Given the description of an element on the screen output the (x, y) to click on. 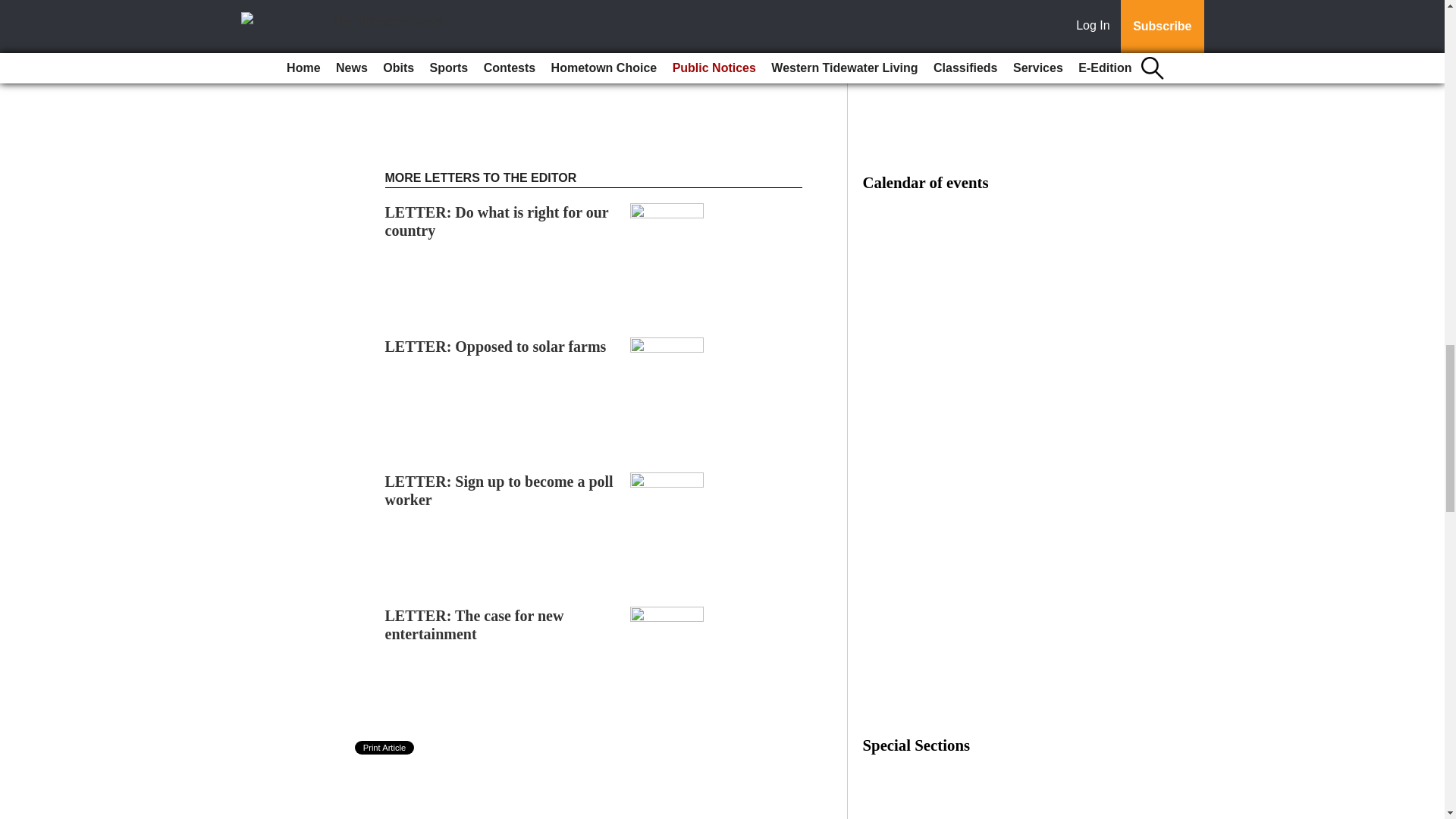
LETTER: Opposed to solar farms (496, 346)
LETTER: Do what is right for our country (496, 221)
LETTER: Opposed to solar farms (496, 346)
LETTER: Sign up to become a poll worker (498, 490)
LETTER: The case for new entertainment (474, 624)
LETTER: Do what is right for our country (496, 221)
